Given the description of an element on the screen output the (x, y) to click on. 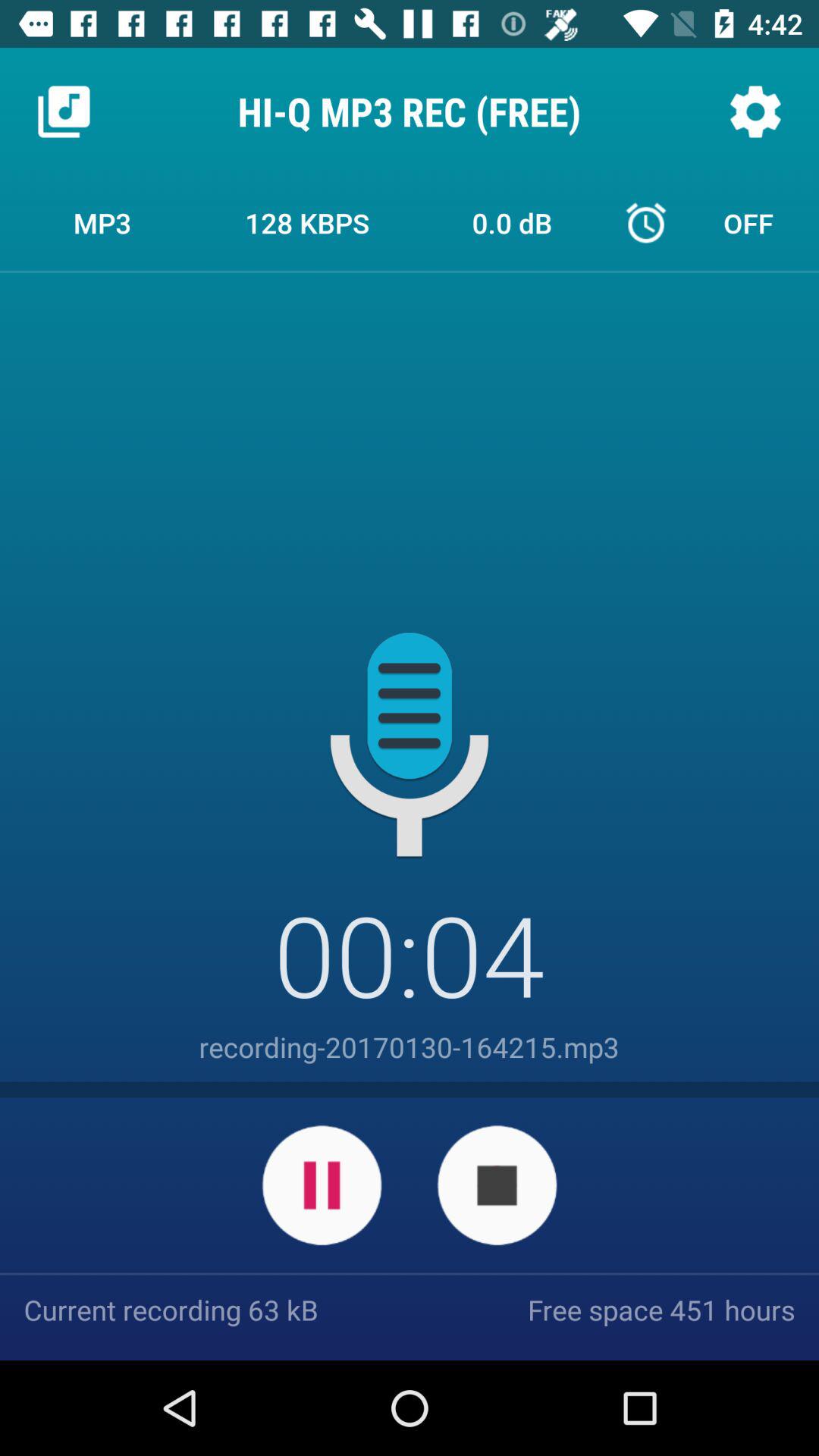
launch the icon to the left of hi q mp3 (63, 111)
